Given the description of an element on the screen output the (x, y) to click on. 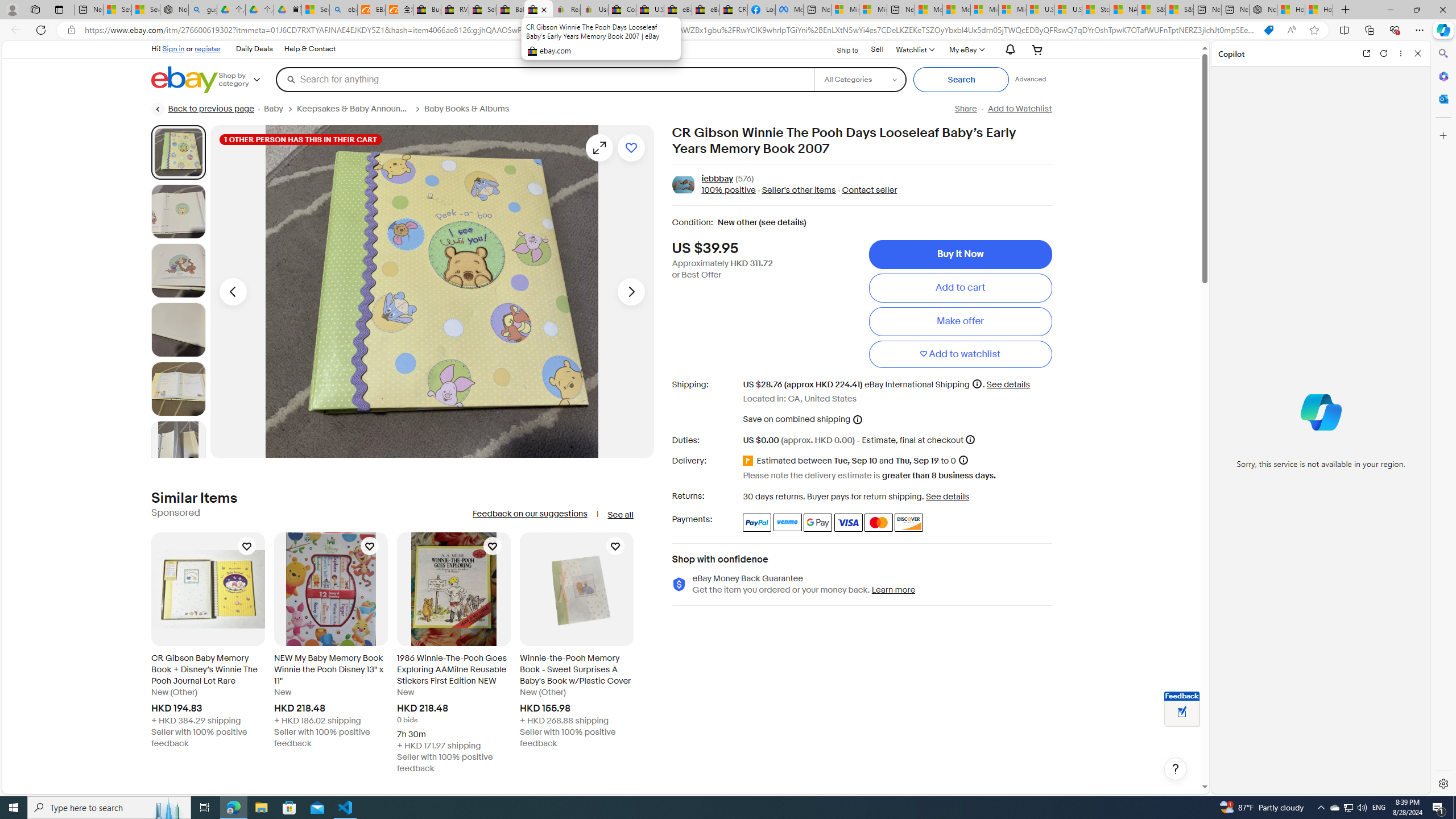
Picture 4 of 22 (178, 329)
Seller's other items (798, 190)
User Privacy Notice | eBay (593, 9)
Add to cart (959, 287)
Side bar (1443, 418)
100% positive (728, 190)
More information (969, 439)
Buy It Now (959, 253)
Picture 2 of 22 (178, 211)
